Given the description of an element on the screen output the (x, y) to click on. 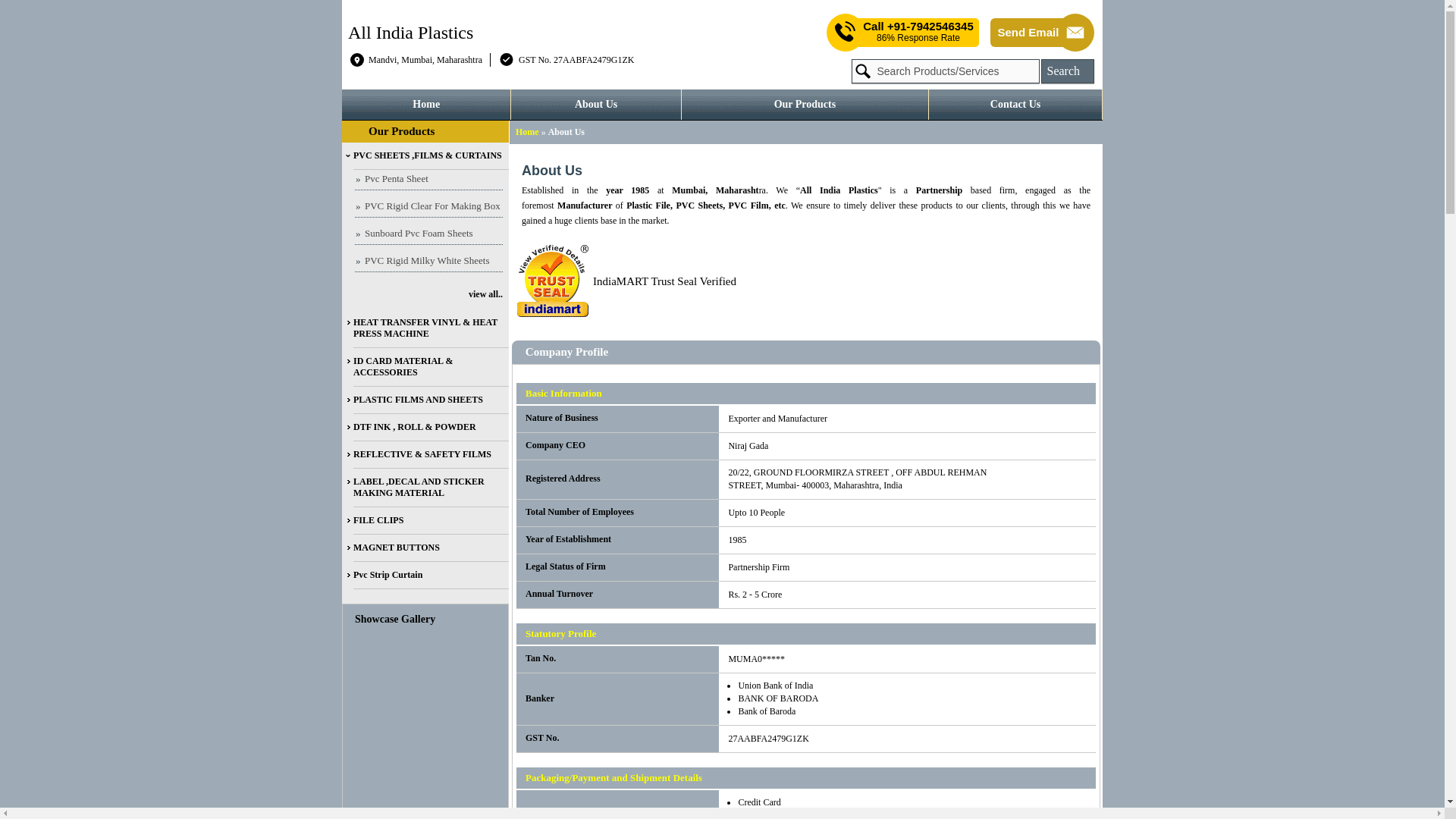
Send SMS Free (917, 32)
Pvc Penta Sheet (428, 179)
Our Products (400, 131)
Contact Us (1015, 104)
Home (526, 131)
view all.. (422, 294)
All India Plastics (410, 32)
Sunboard Pvc Foam Sheets (428, 234)
PVC Rigid Milky White Sheets (428, 261)
PVC Rigid Clear For Making Box (428, 207)
